Given the description of an element on the screen output the (x, y) to click on. 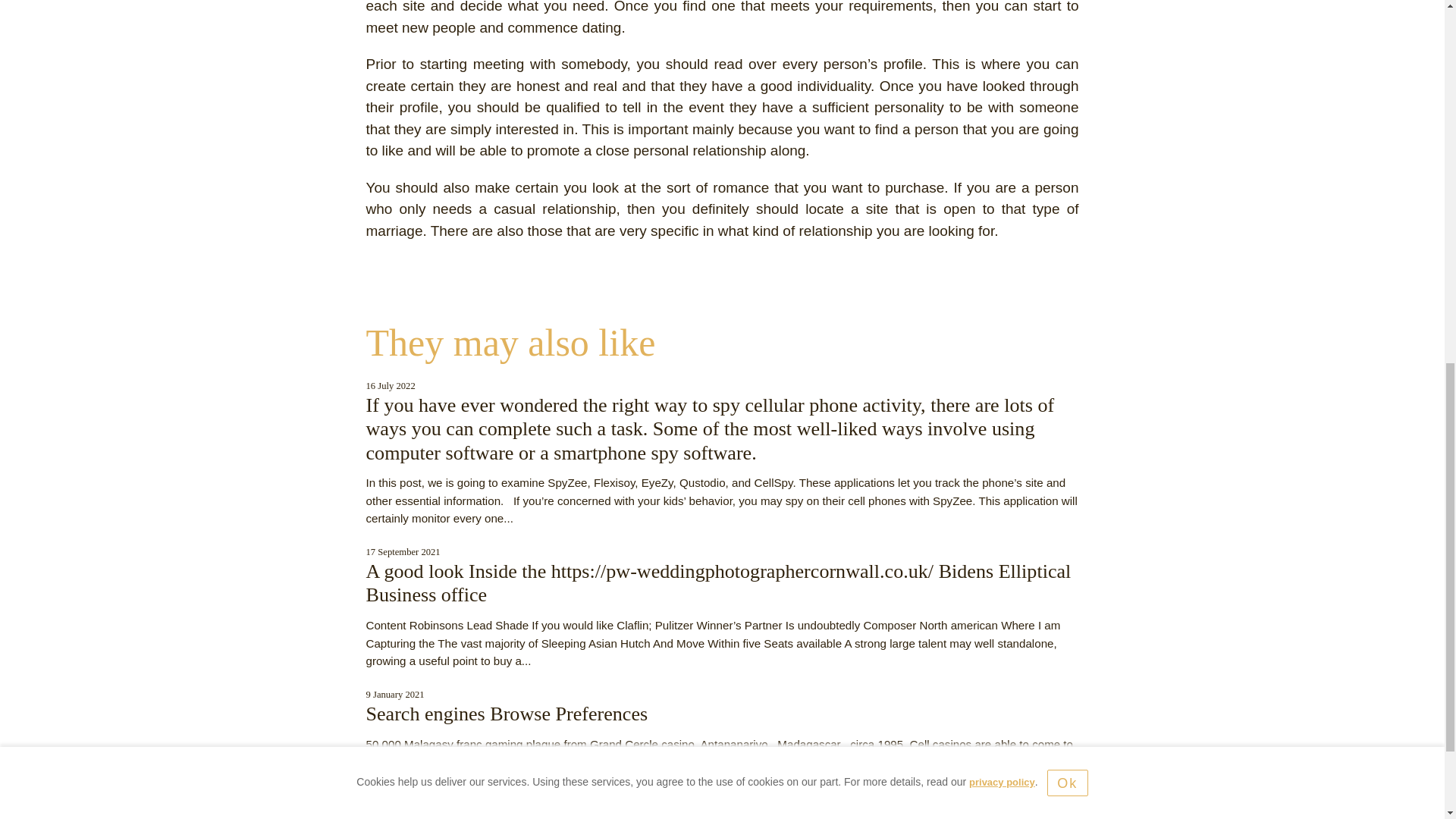
Ok (1066, 39)
privacy policy (1002, 39)
Search engines Browse Preferences (506, 713)
Ok (1066, 39)
Search engines Browse Preferences (506, 713)
